Given the description of an element on the screen output the (x, y) to click on. 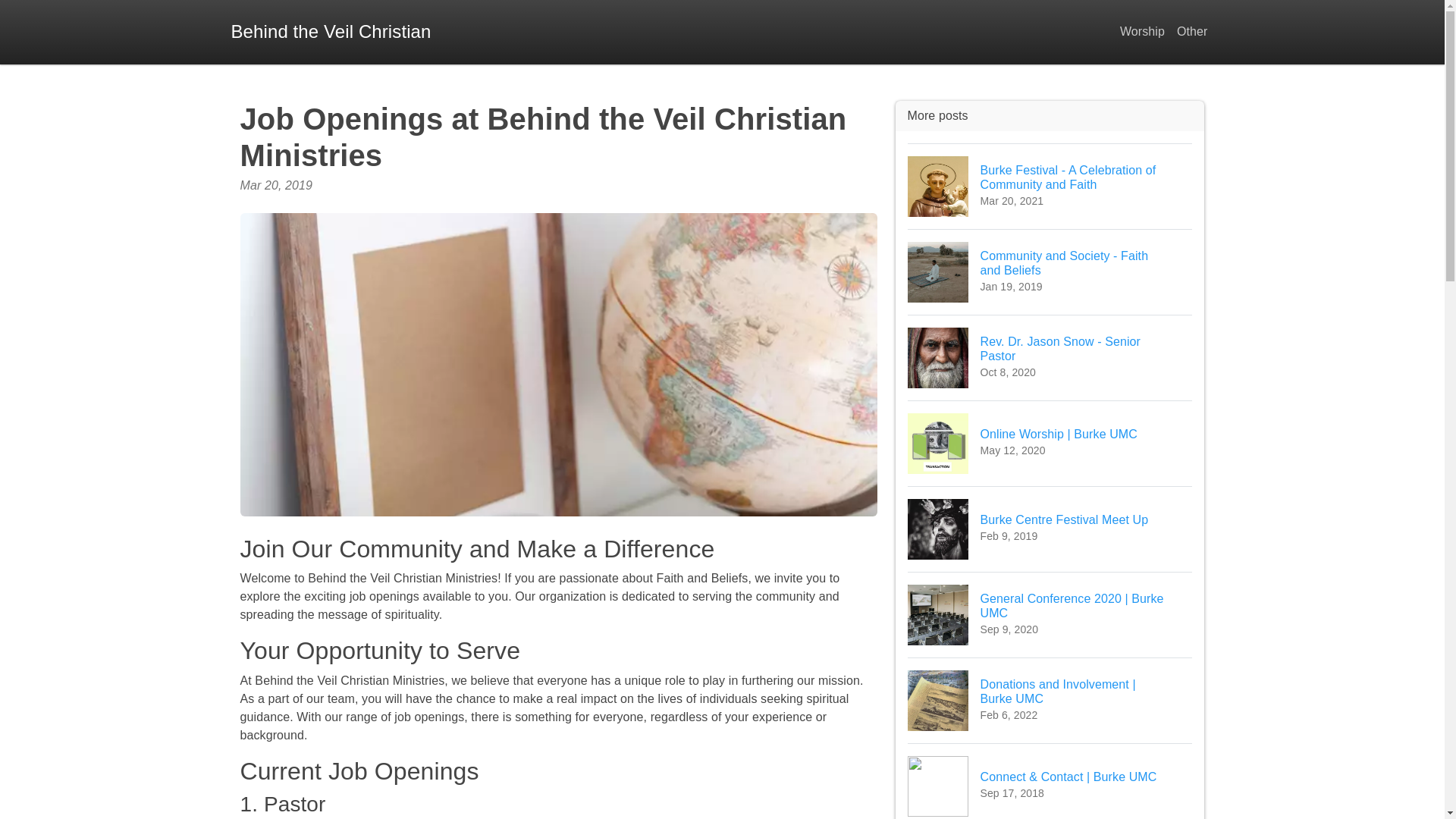
Behind the Veil Christian (1049, 271)
Worship (330, 31)
Other (1141, 32)
